Given the description of an element on the screen output the (x, y) to click on. 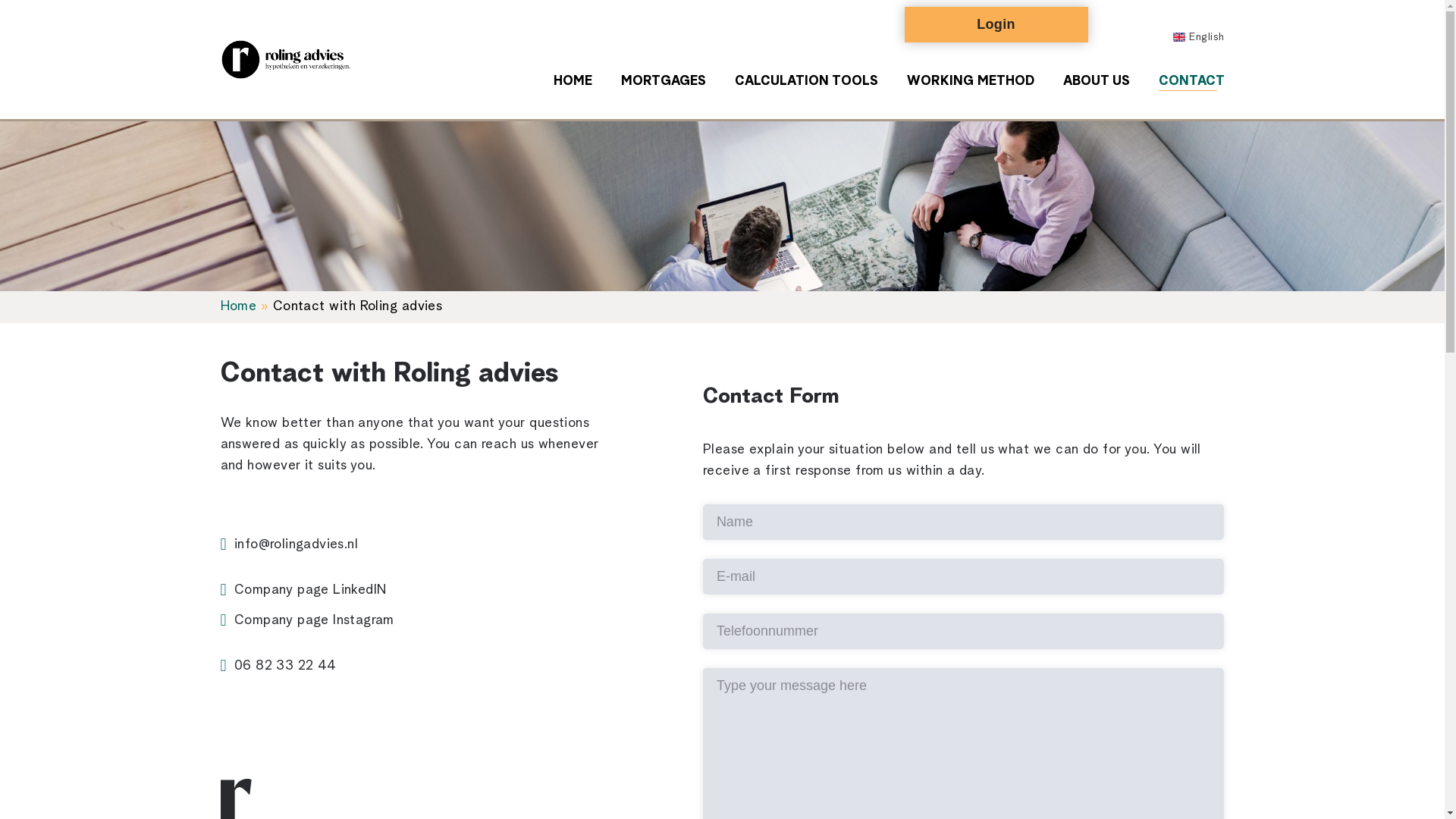
CALCULATION TOOLS (805, 81)
Home (237, 305)
English (1198, 36)
Company page Instagram (314, 620)
CONTACT (1187, 81)
MORTGAGES (662, 81)
Login (995, 23)
Company page LinkedIN (309, 589)
06 82 33 22 44 (285, 665)
HOME (572, 81)
ABOUT US (1096, 81)
WORKING METHOD (970, 81)
